Given the description of an element on the screen output the (x, y) to click on. 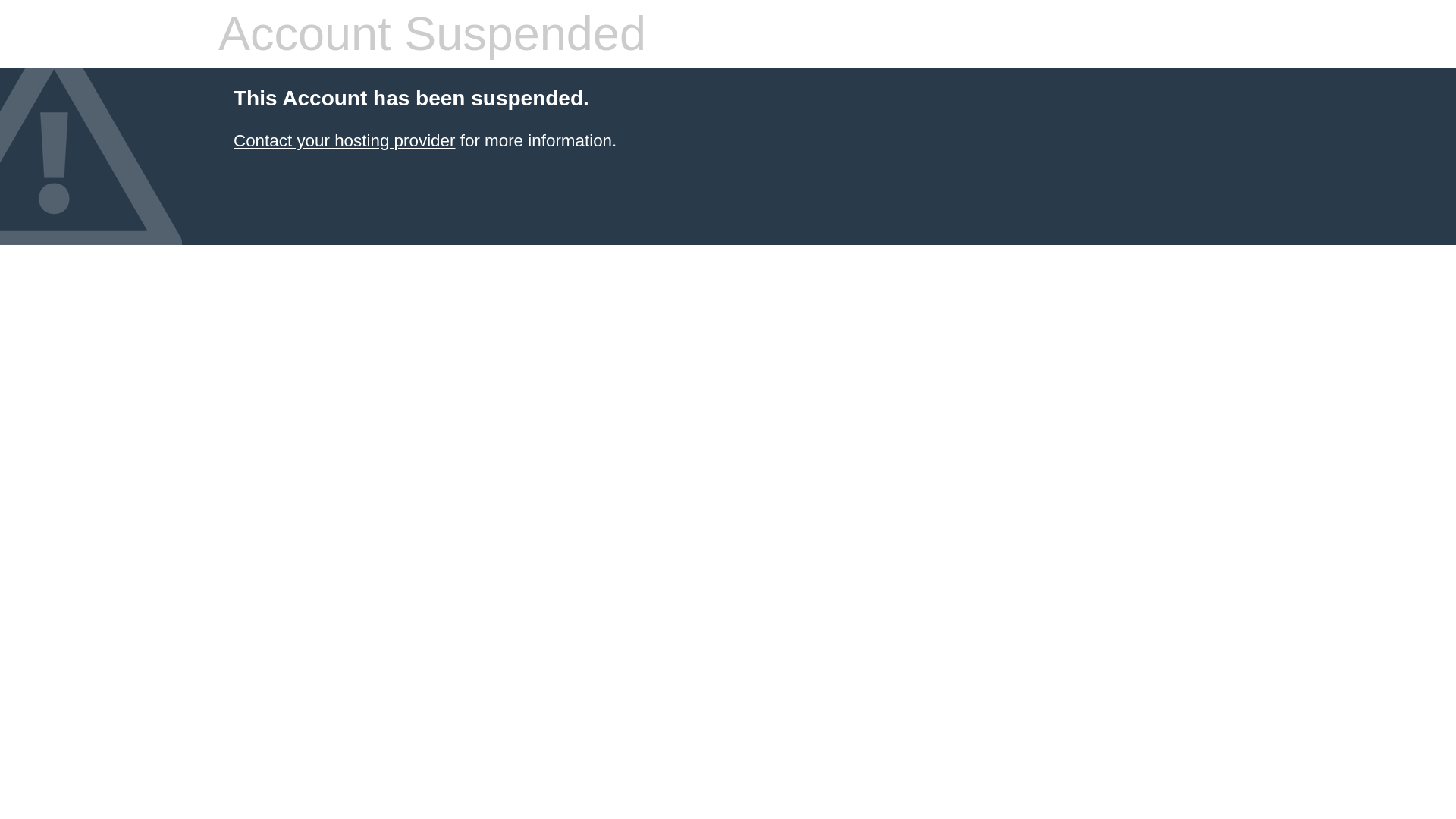
Contact your hosting provider (343, 140)
